Given the description of an element on the screen output the (x, y) to click on. 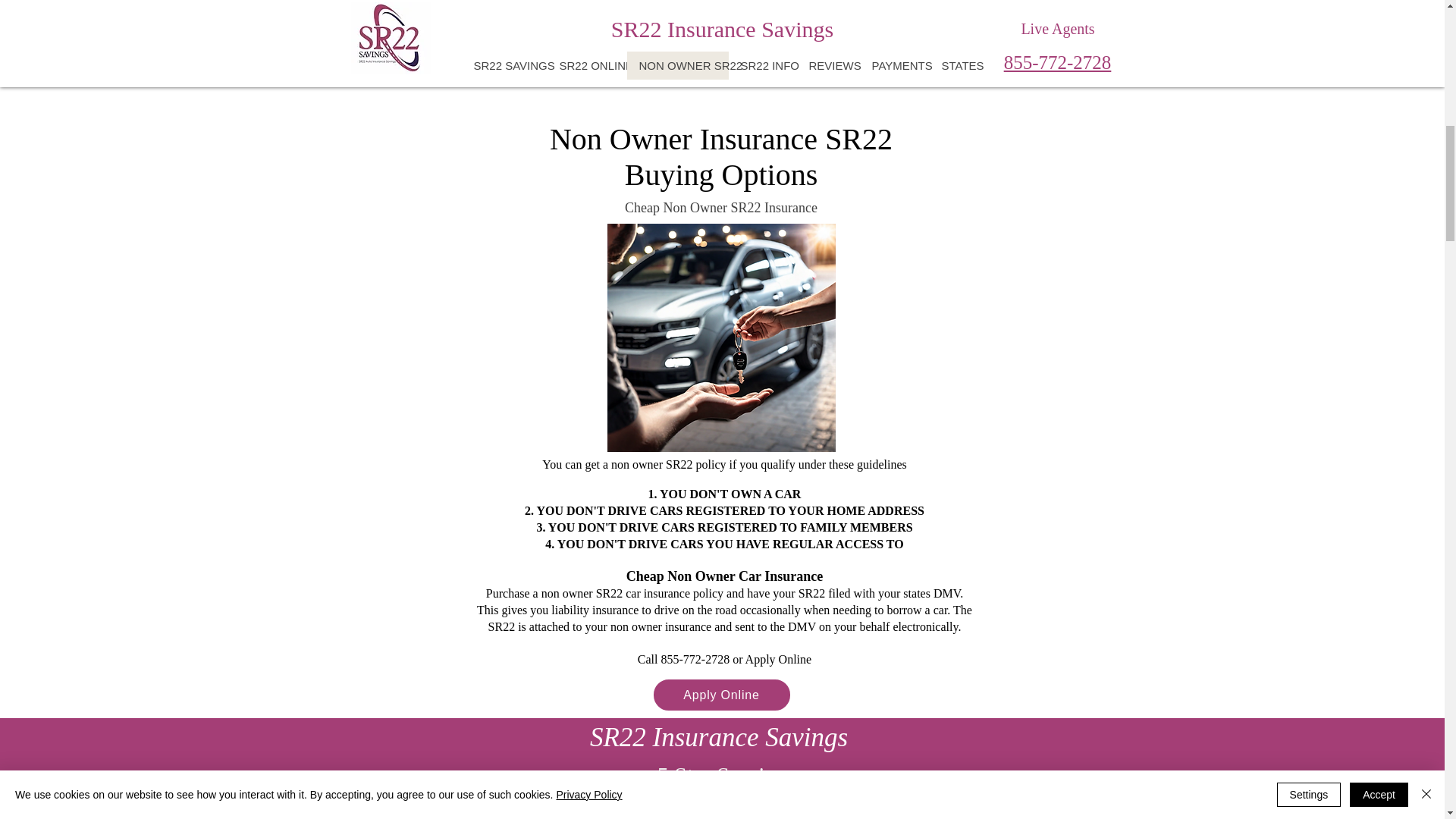
Cheap Non Owner SR22 Insurance (720, 207)
Apply Online (721, 694)
Reviews (721, 60)
